Given the description of an element on the screen output the (x, y) to click on. 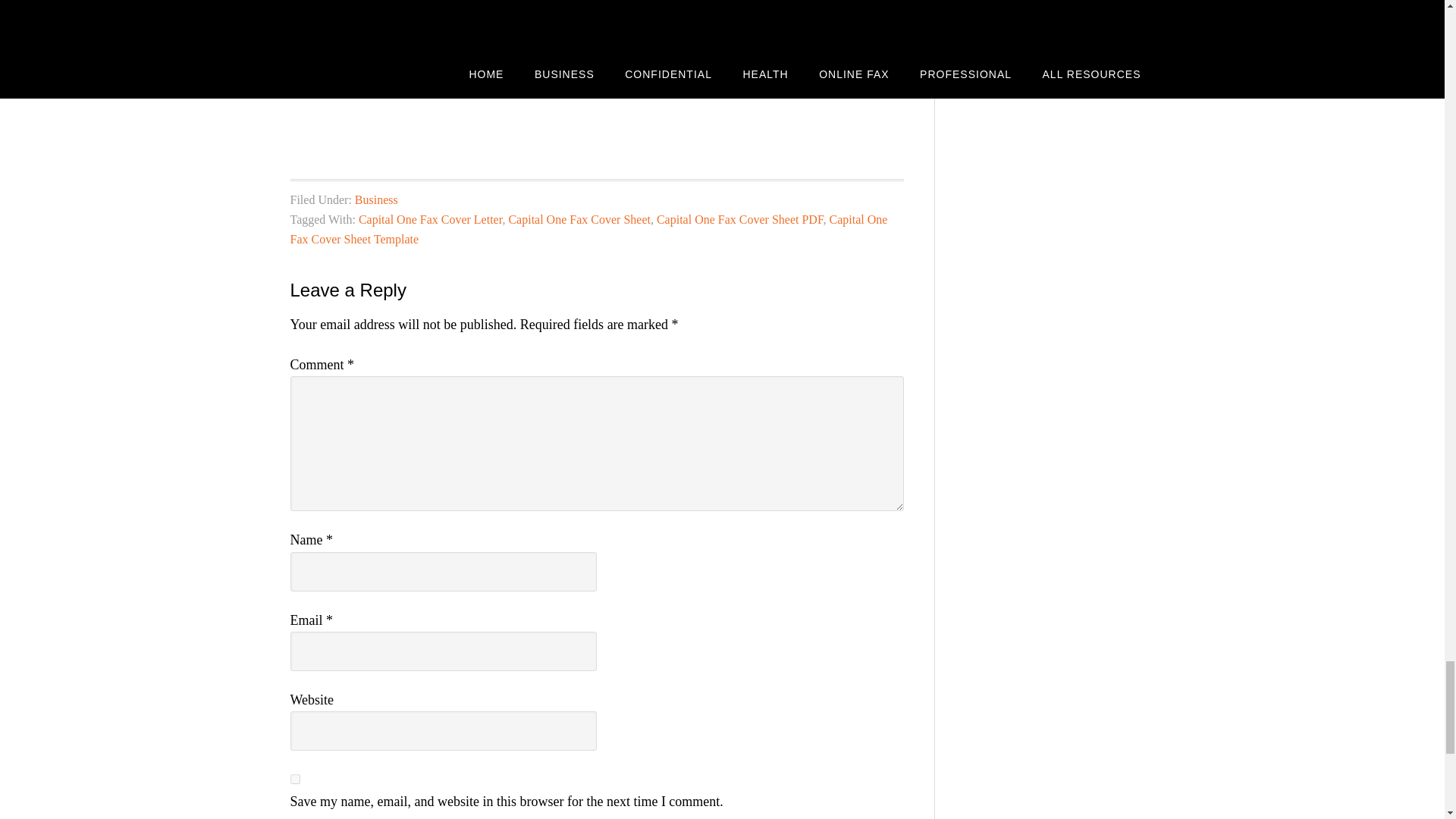
yes (294, 778)
